Given the description of an element on the screen output the (x, y) to click on. 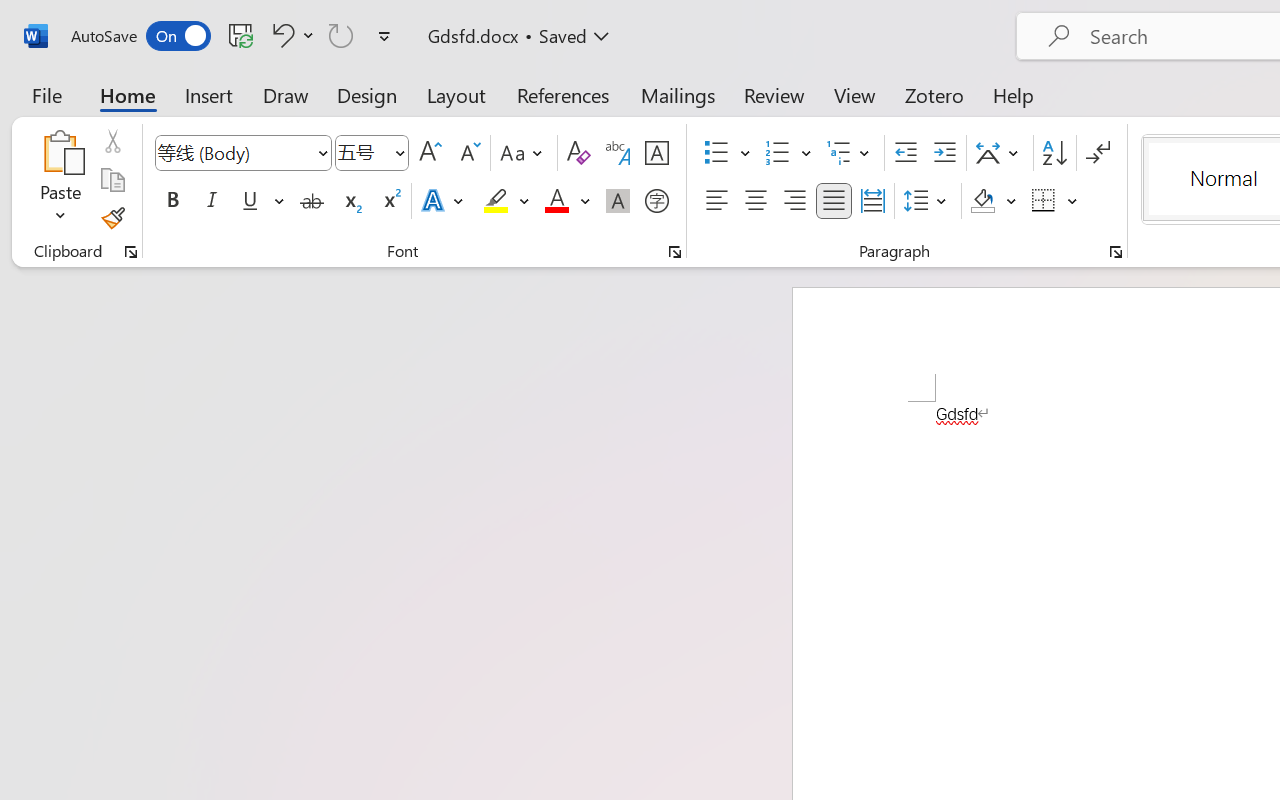
Undo Apply Quick Style (290, 35)
